Given the description of an element on the screen output the (x, y) to click on. 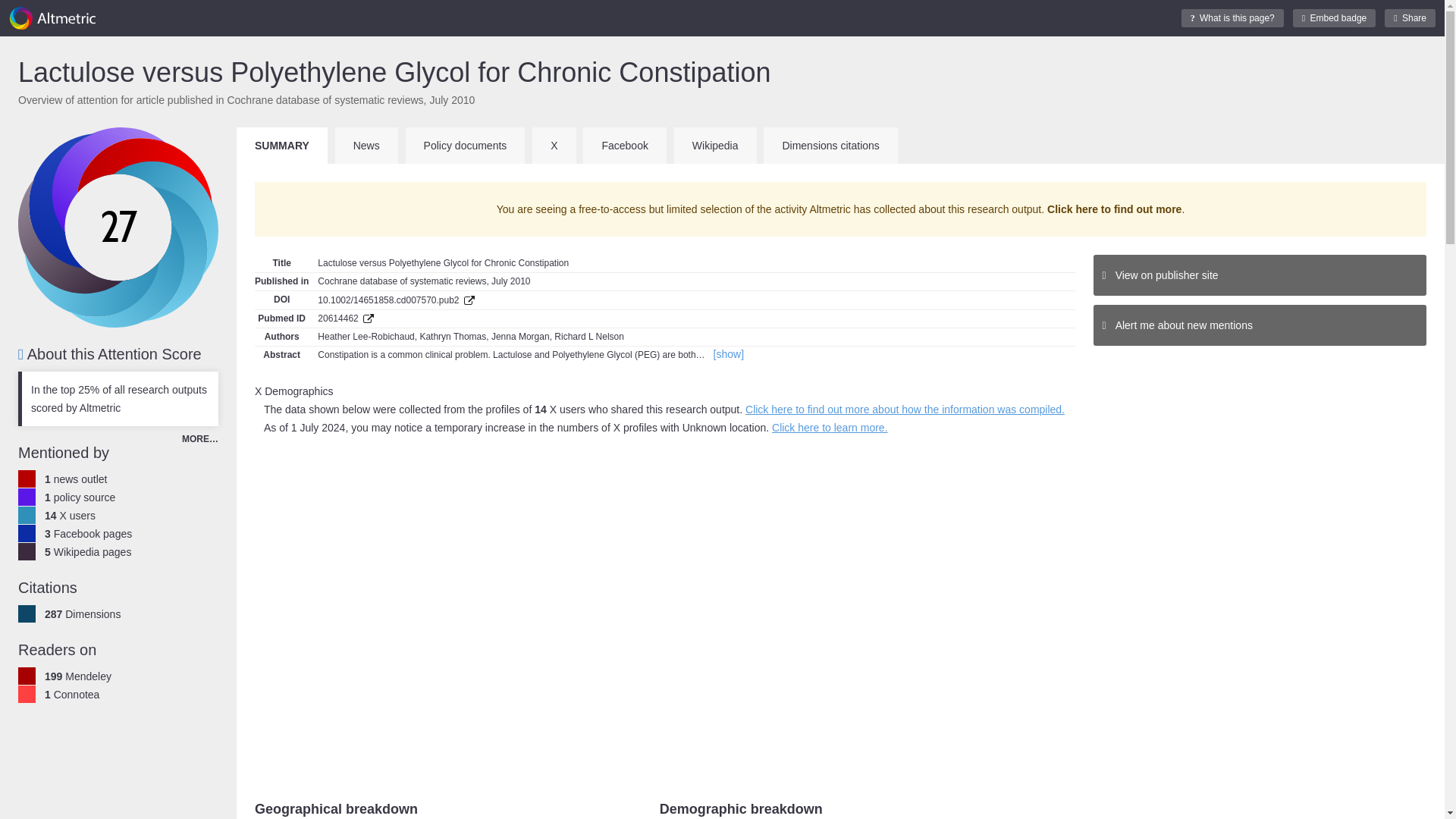
199 Mendeley (78, 676)
Facebook (624, 145)
Click here to learn more. (829, 427)
Alert me about new mentions (1259, 324)
View on publisher site (1259, 274)
5 Wikipedia pages (88, 551)
Dimensions citations (829, 145)
News (365, 145)
1 news outlet (76, 479)
1 policy source (80, 497)
3 Facebook pages (88, 533)
Policy documents (465, 145)
14 X users (70, 515)
